Given the description of an element on the screen output the (x, y) to click on. 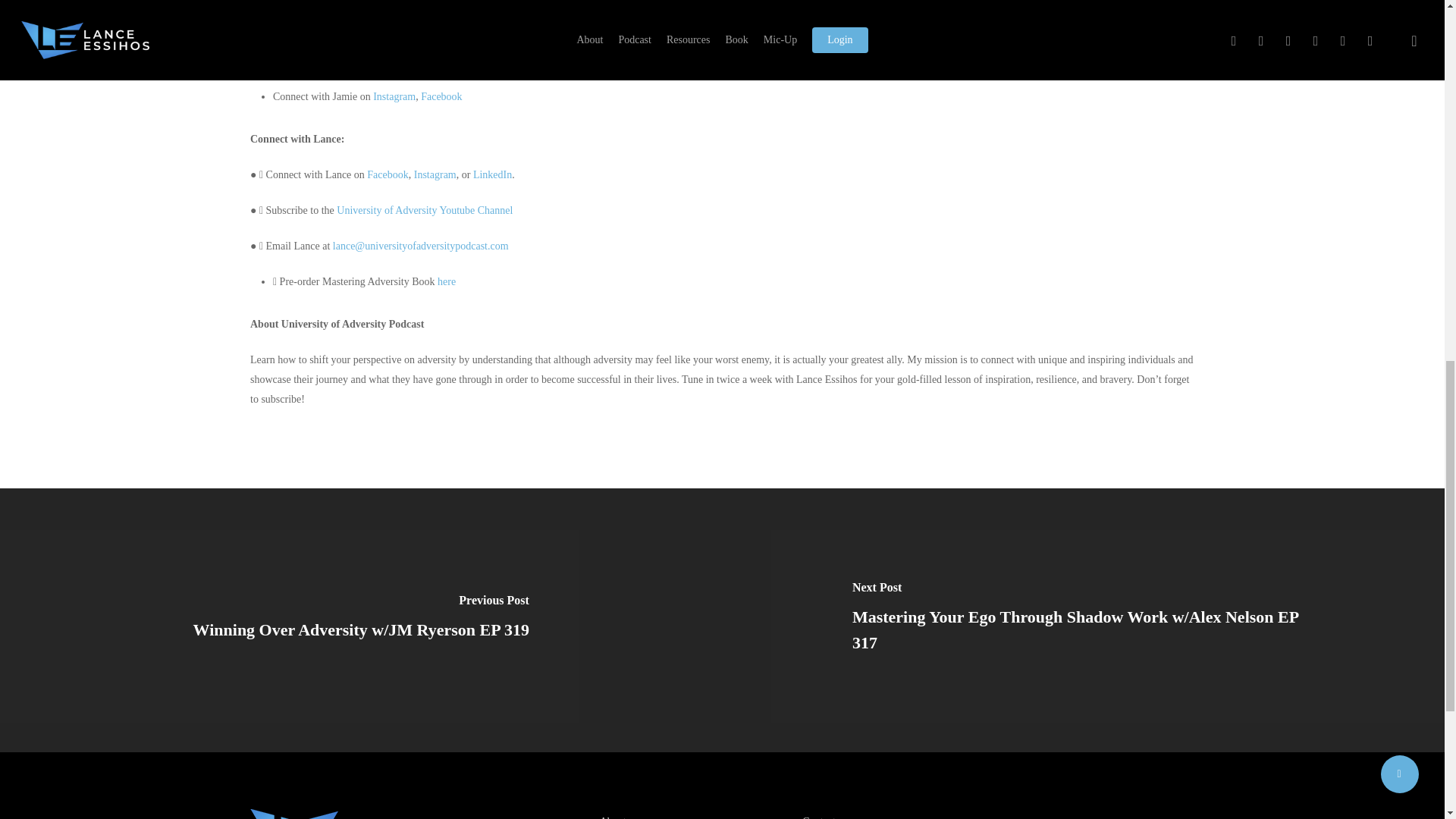
here (446, 281)
Instagram (435, 174)
Podcast (367, 76)
University of Adversity Youtube Channel (424, 210)
Instagram (393, 96)
Facebook (440, 96)
website (323, 57)
LinkedIn (492, 174)
Facebook (386, 174)
